Given the description of an element on the screen output the (x, y) to click on. 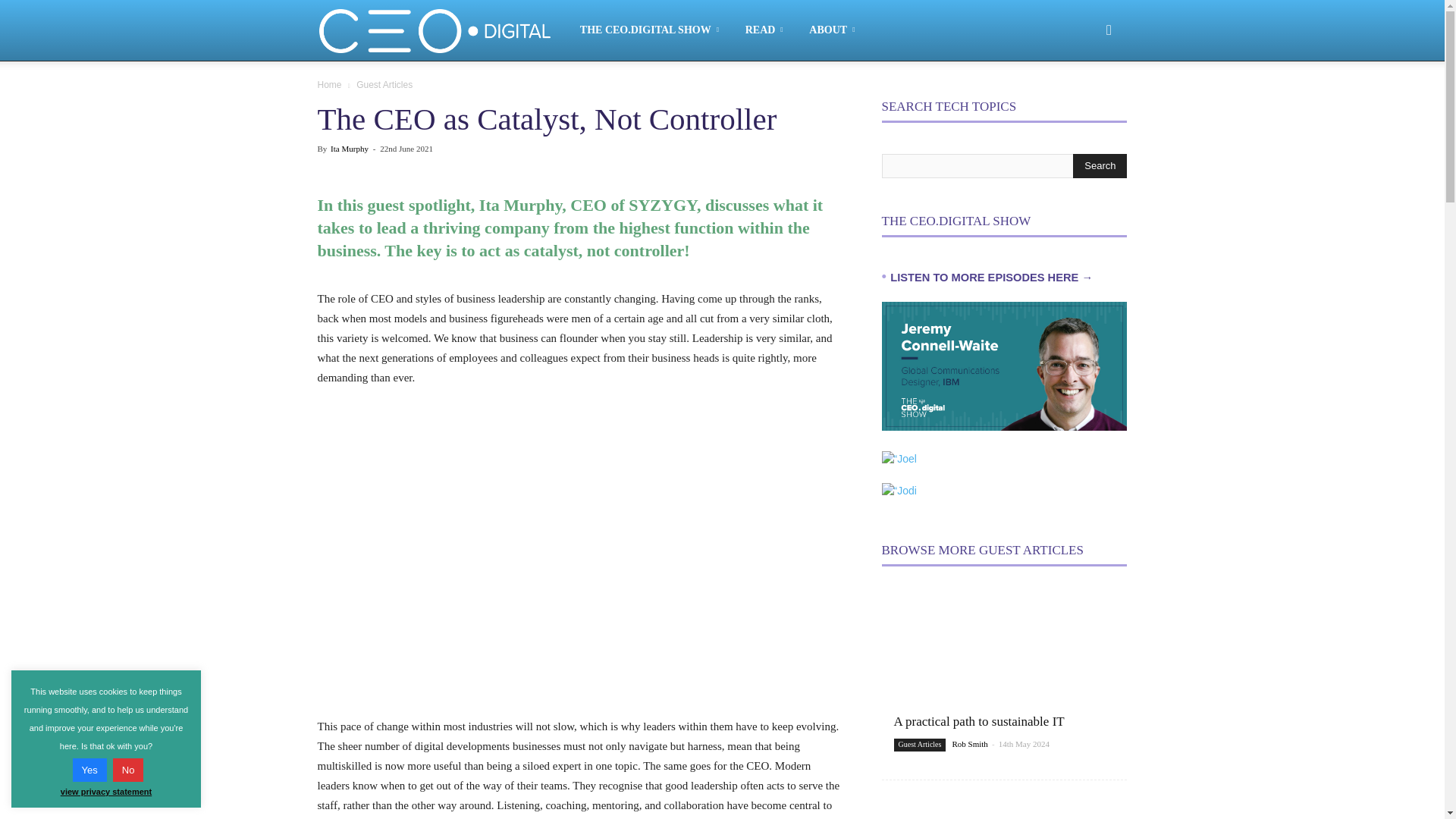
Search (1085, 81)
A practical path to sustainable IT (978, 721)
CEO.digital (443, 30)
ABOUT (833, 30)
Coming soon: An in-depth series on Sustainable Cloud (1003, 809)
Home (328, 84)
READ (767, 30)
A practical path to sustainable IT (1003, 671)
Ita Murphy (349, 148)
Search (1099, 165)
